Given the description of an element on the screen output the (x, y) to click on. 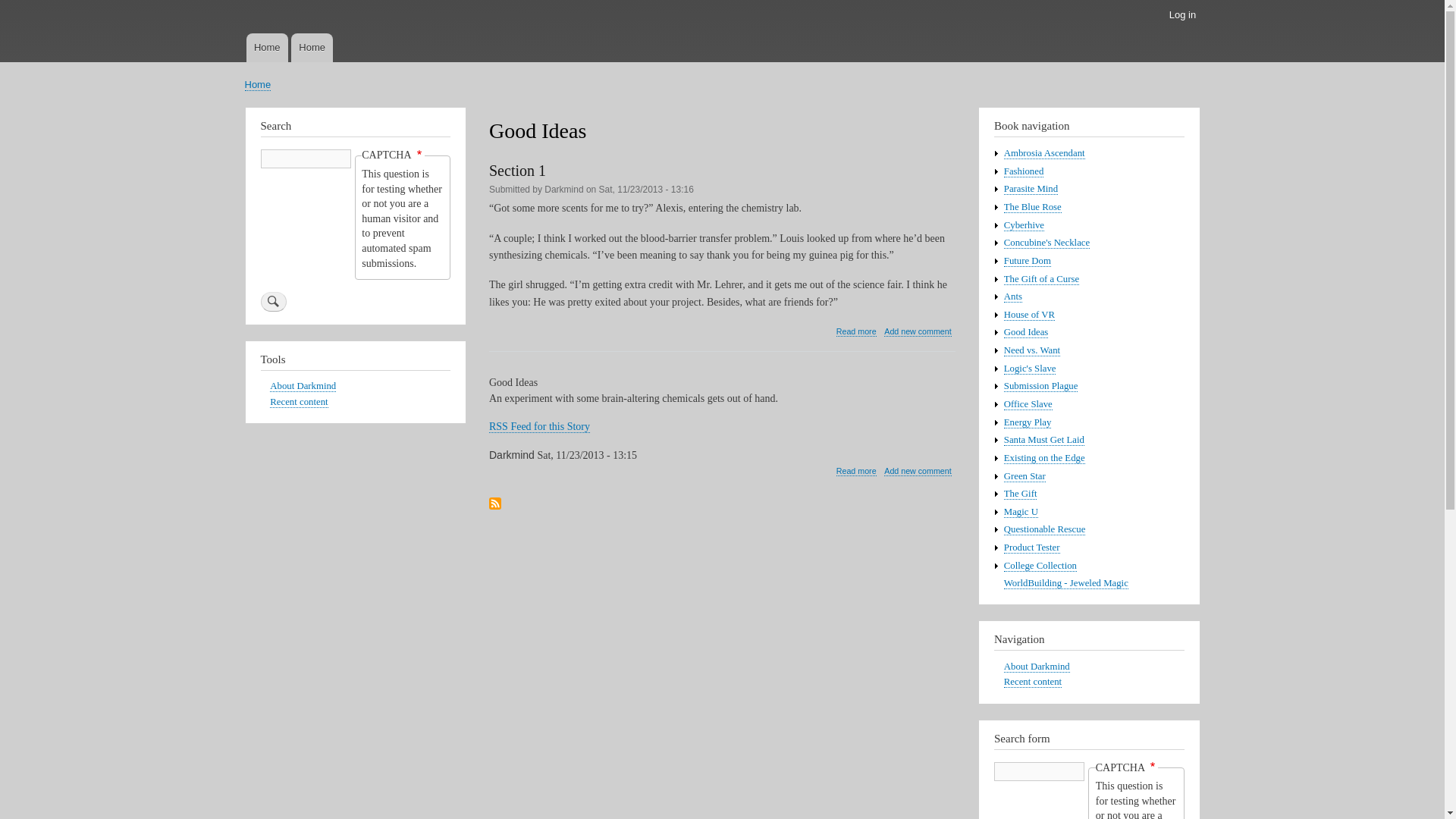
Enter the terms you wish to search for. (1039, 771)
Santa Must Get Laid (1044, 439)
Existing on the Edge (1044, 458)
Recent content (298, 401)
The Blue Rose (1032, 206)
Home (257, 84)
Search (273, 301)
Ants (1013, 296)
Log in (1182, 15)
Good Ideas (855, 470)
